Given the description of an element on the screen output the (x, y) to click on. 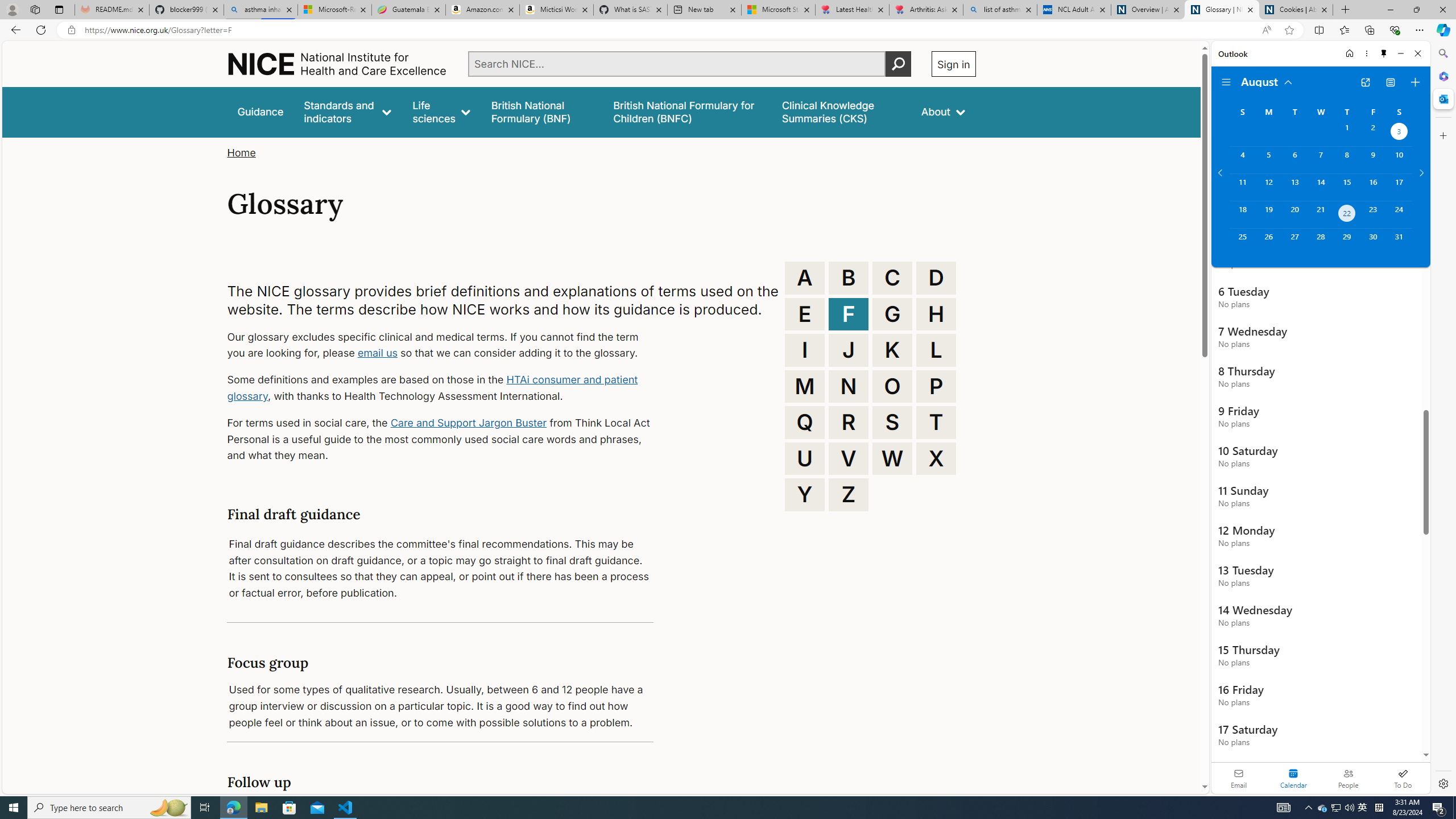
Wednesday, August 21, 2024.  (1320, 214)
Thursday, August 8, 2024.  (1346, 159)
Monday, August 19, 2024.  (1268, 214)
Folder navigation (1225, 82)
Friday, August 23, 2024.  (1372, 214)
R (848, 422)
Create event (1414, 82)
C (892, 277)
F (848, 313)
Sunday, August 25, 2024.  (1242, 241)
L (935, 350)
